Given the description of an element on the screen output the (x, y) to click on. 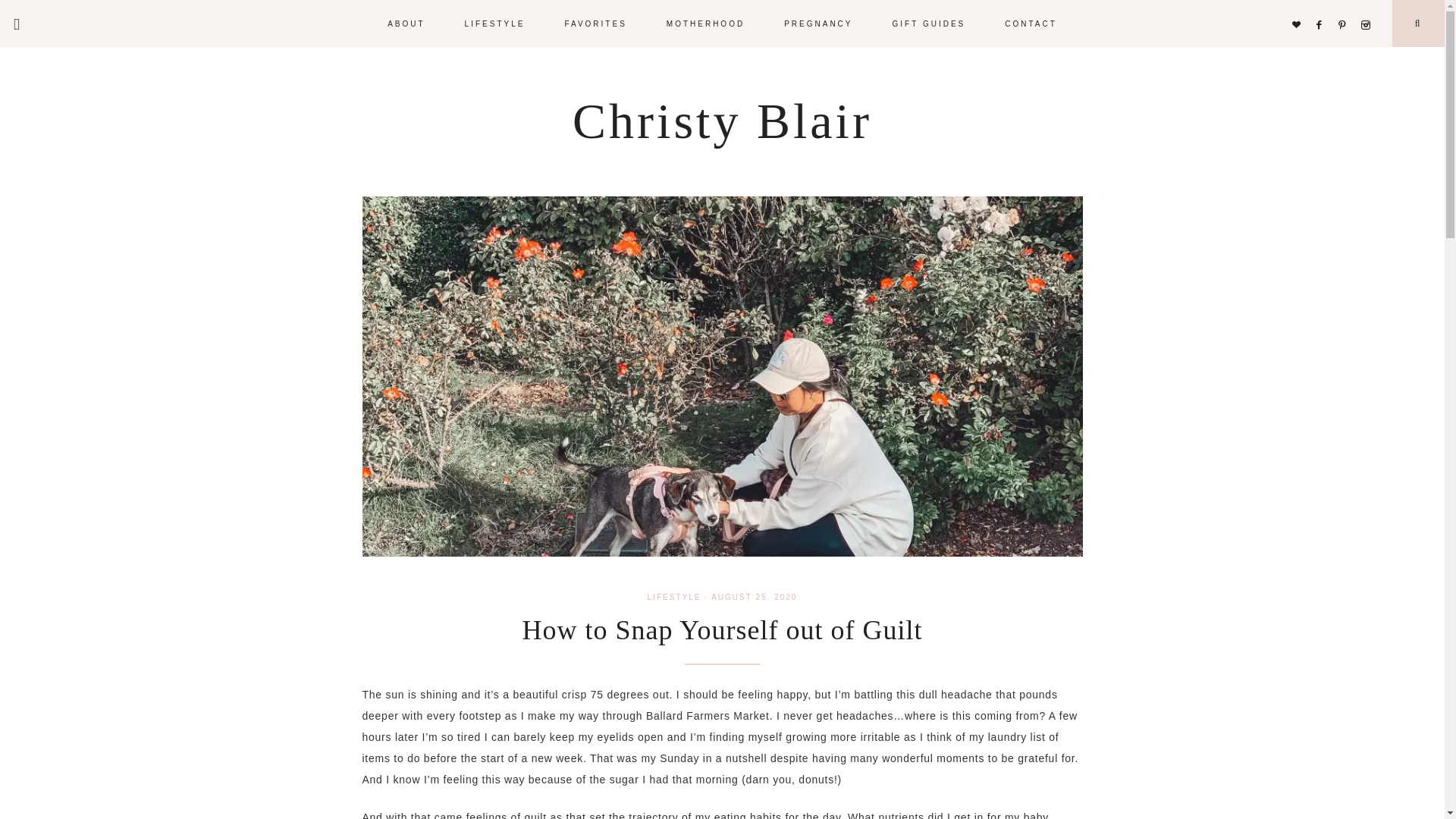
ABOUT (406, 22)
GIFT GUIDES (928, 22)
Instagram (1367, 6)
Facebook (1323, 6)
LIFESTYLE (674, 596)
Pinterest (1345, 6)
PREGNANCY (818, 22)
LIKEtoKNOW.it (1299, 6)
FAVORITES (595, 22)
MOTHERHOOD (705, 22)
CONTACT (1031, 22)
Christy Blair (722, 120)
LIFESTYLE (494, 22)
